Given the description of an element on the screen output the (x, y) to click on. 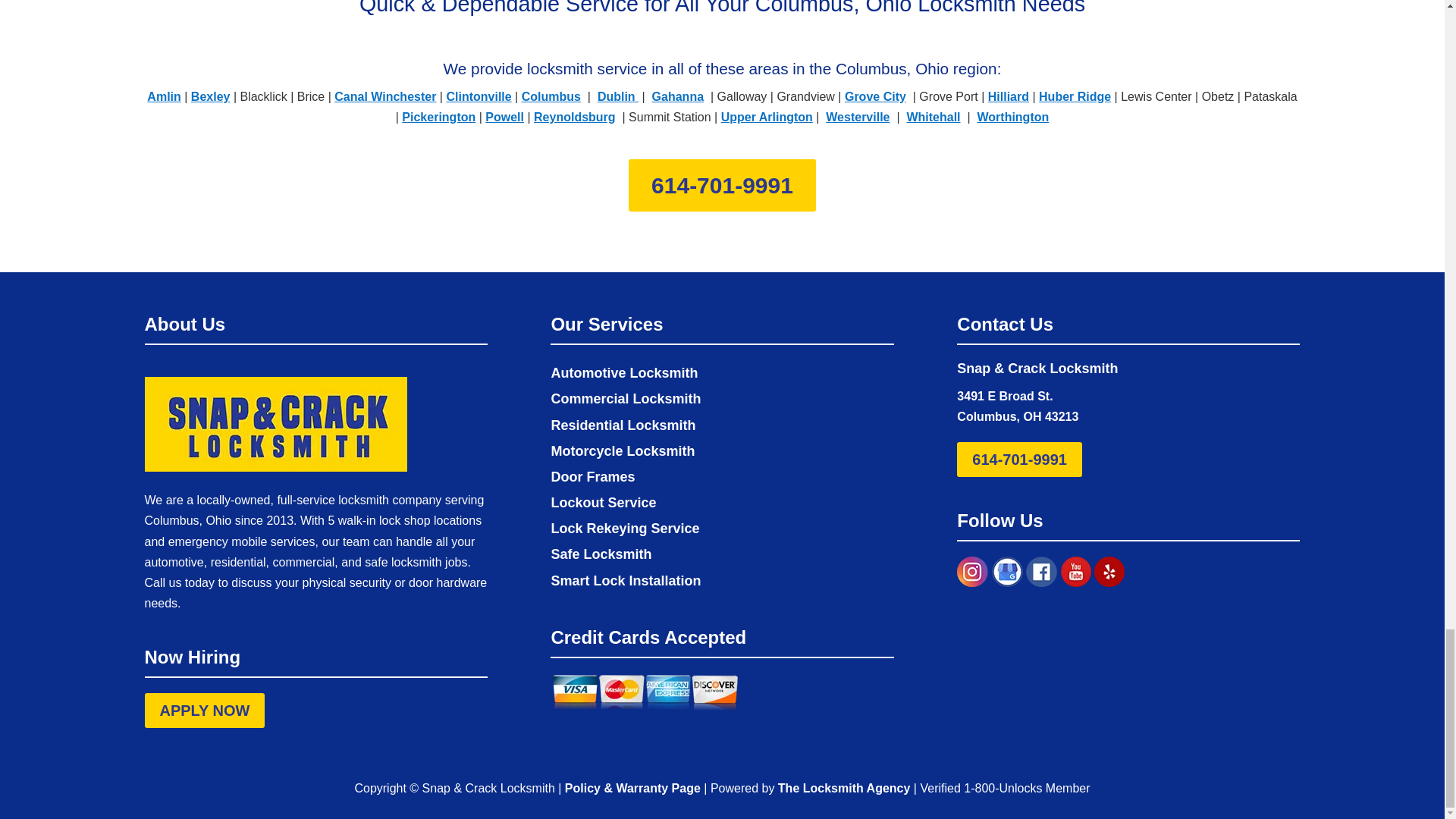
The Locksmith Agency (844, 788)
Columbus (550, 96)
credit cards accepted image (644, 706)
